Given the description of an element on the screen output the (x, y) to click on. 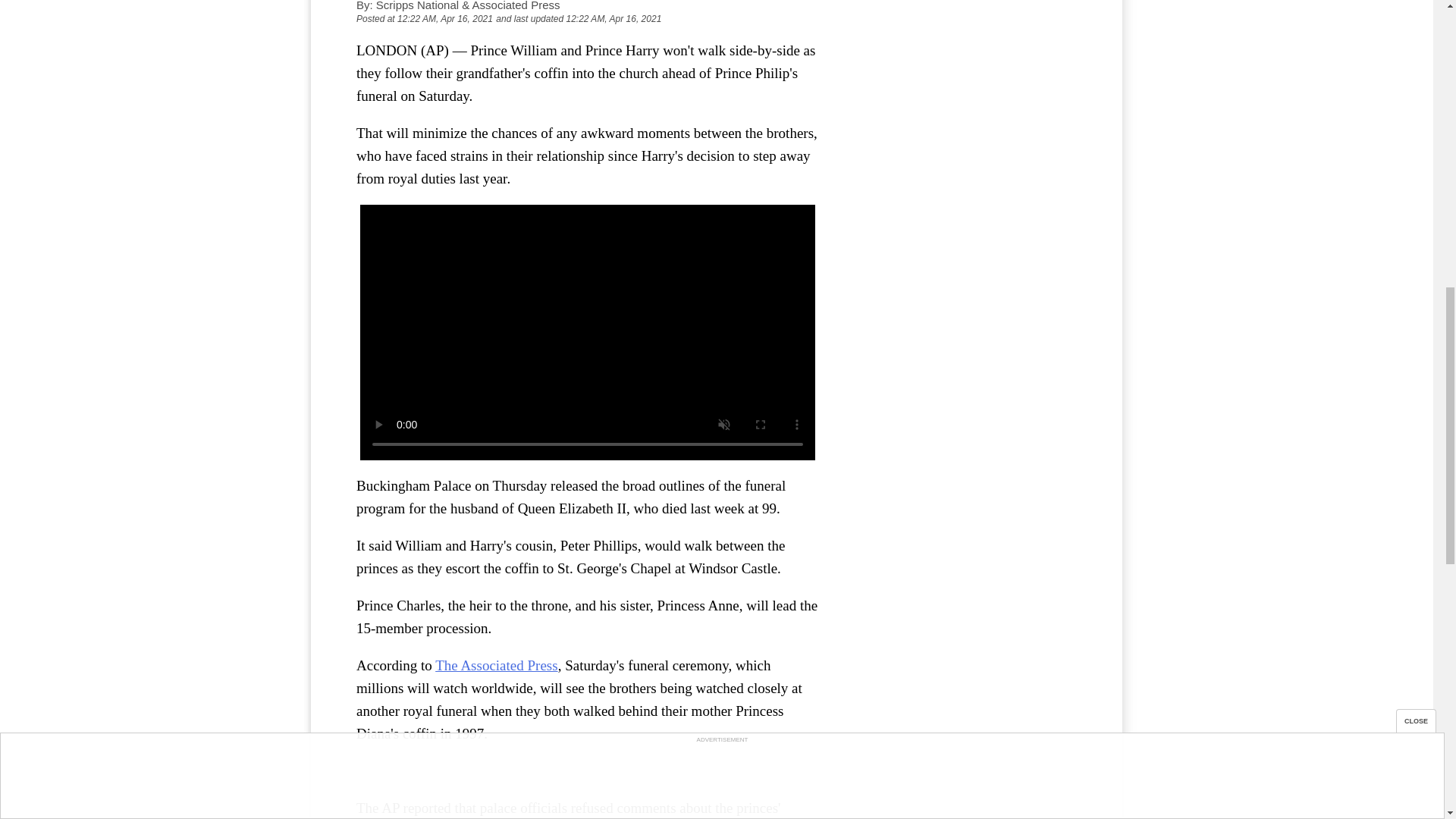
3rd party ad content (962, 45)
